Given the description of an element on the screen output the (x, y) to click on. 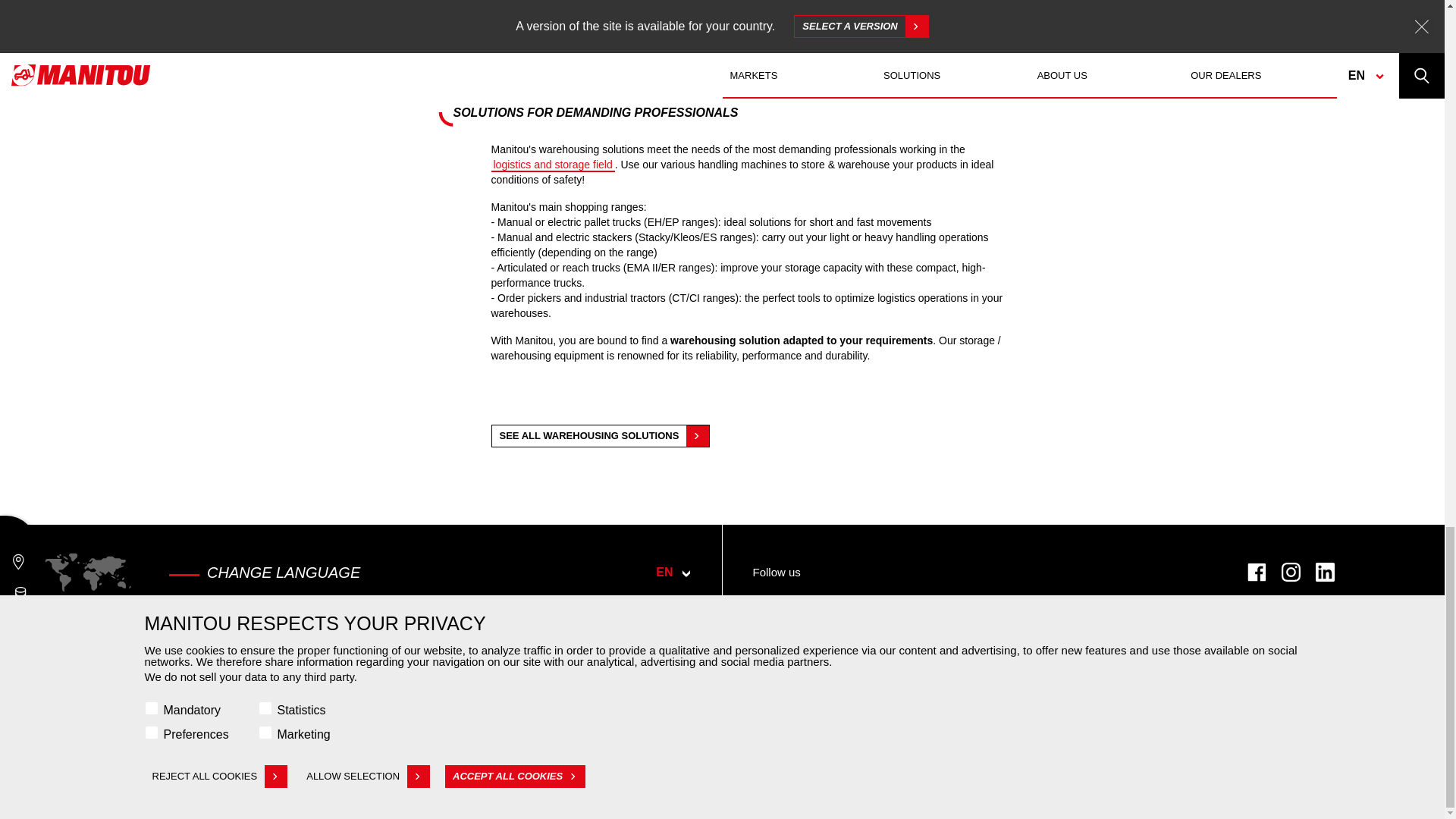
logistics and storage field (553, 164)
SEE ALL WAREHOUSING SOLUTIONS (601, 436)
